Given the description of an element on the screen output the (x, y) to click on. 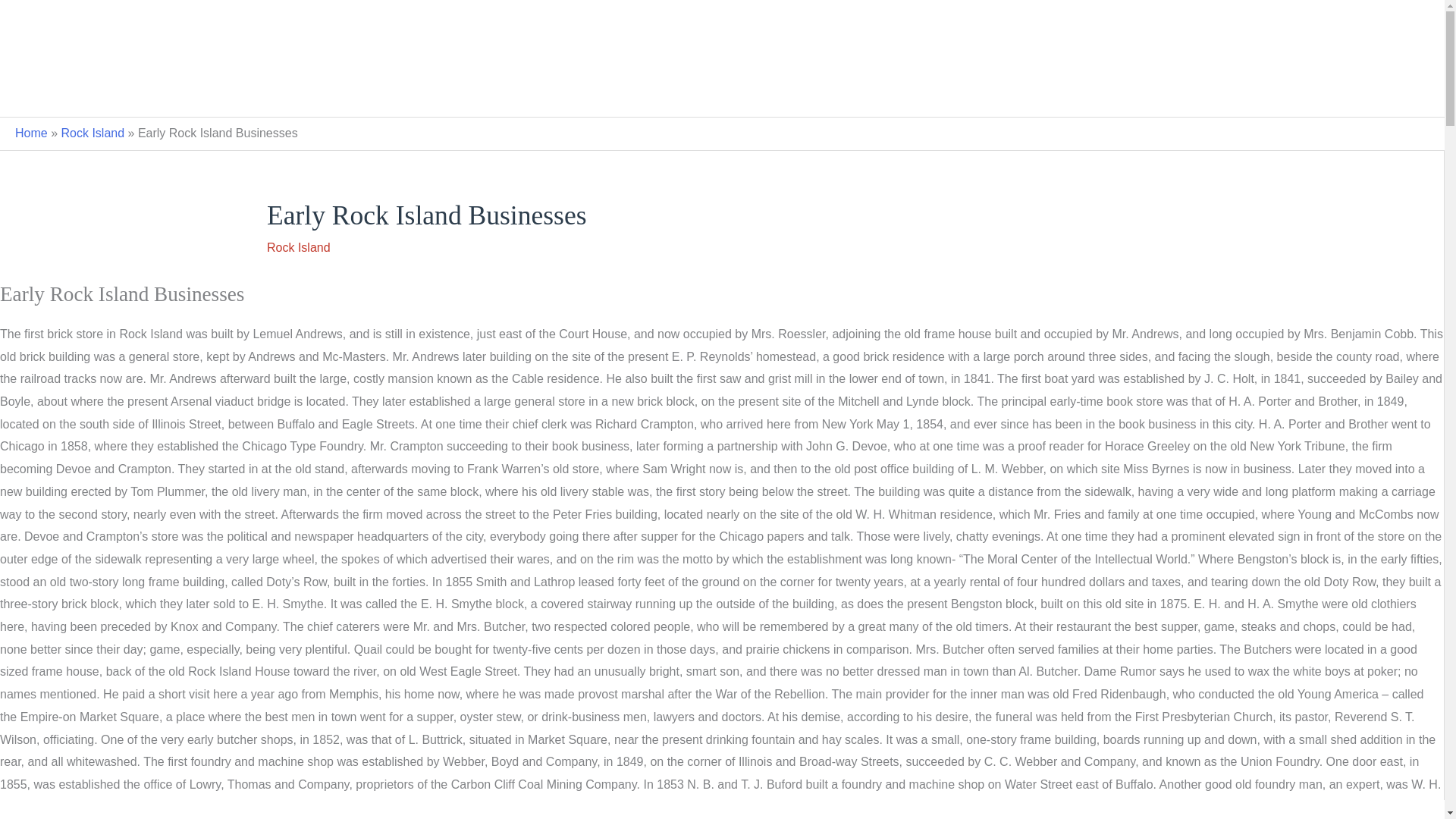
Rock Island (298, 246)
Rock Island County (744, 92)
Illinois Genealogy (721, 26)
Contact Us (851, 92)
Champaign County (615, 92)
Rock Island (92, 132)
Home (31, 132)
